Given the description of an element on the screen output the (x, y) to click on. 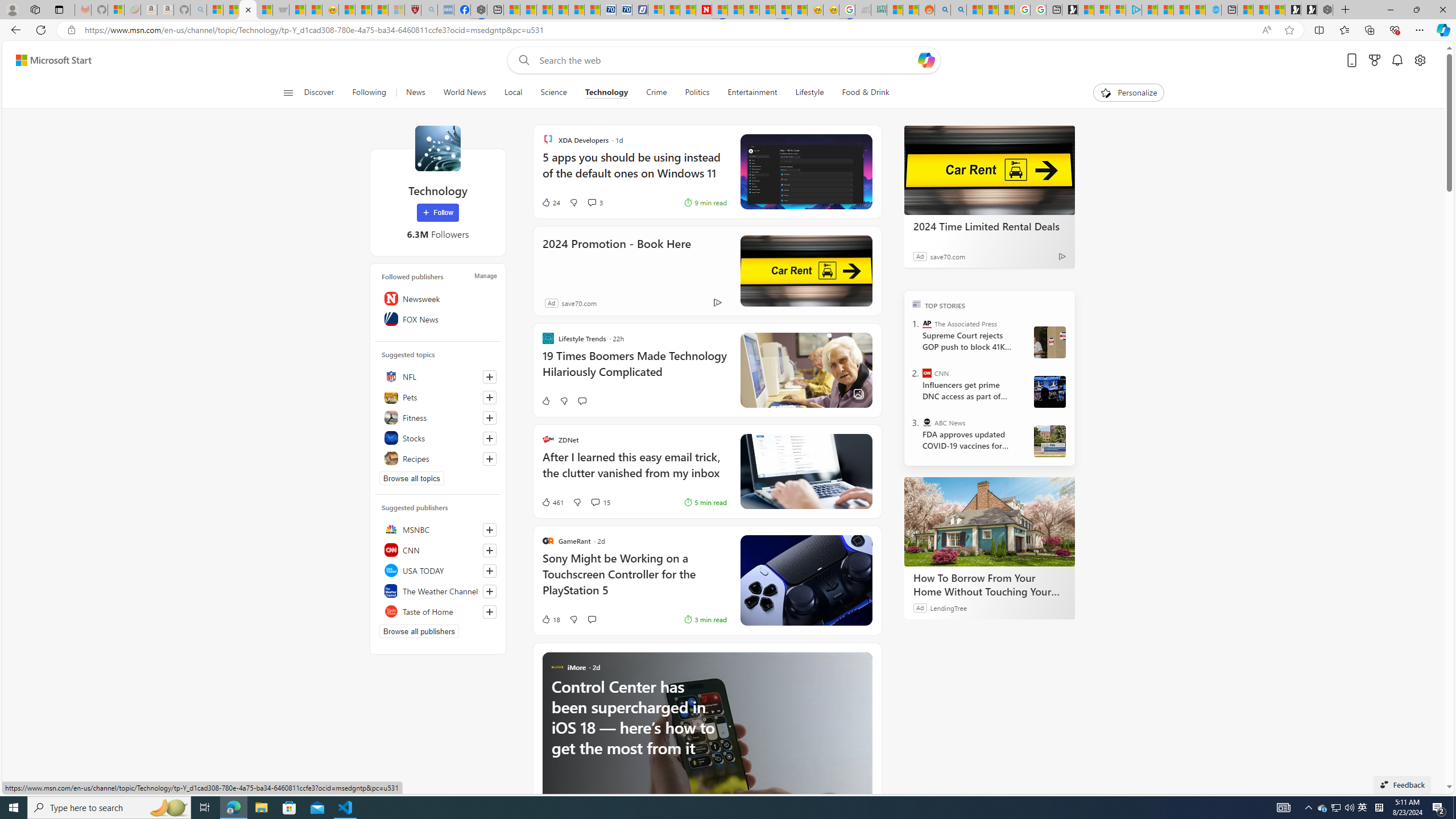
2024 Promotion - Book Here (616, 259)
